Given the description of an element on the screen output the (x, y) to click on. 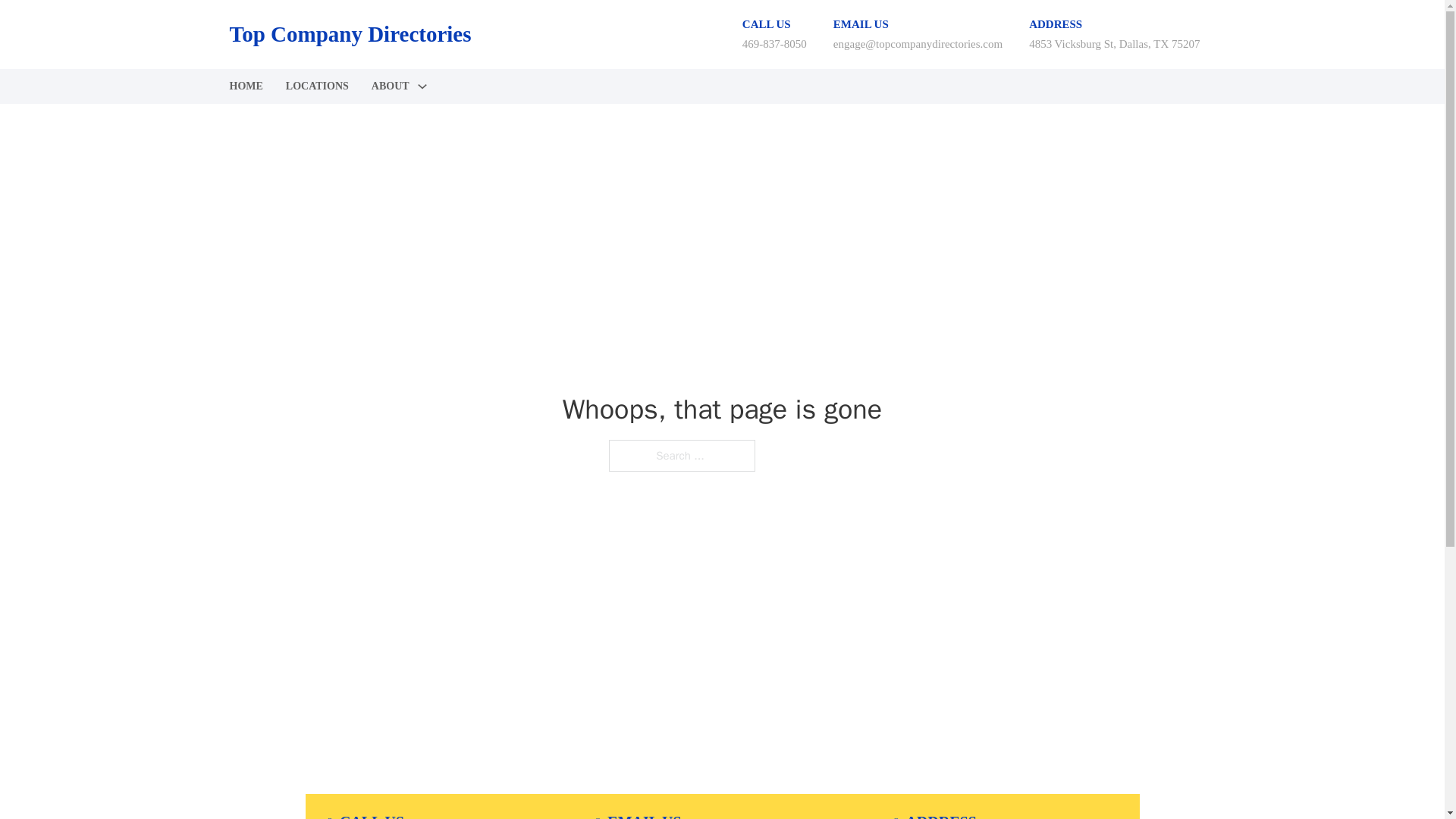
Top Company Directories (349, 34)
LOCATIONS (317, 85)
HOME (245, 85)
469-837-8050 (774, 43)
